Given the description of an element on the screen output the (x, y) to click on. 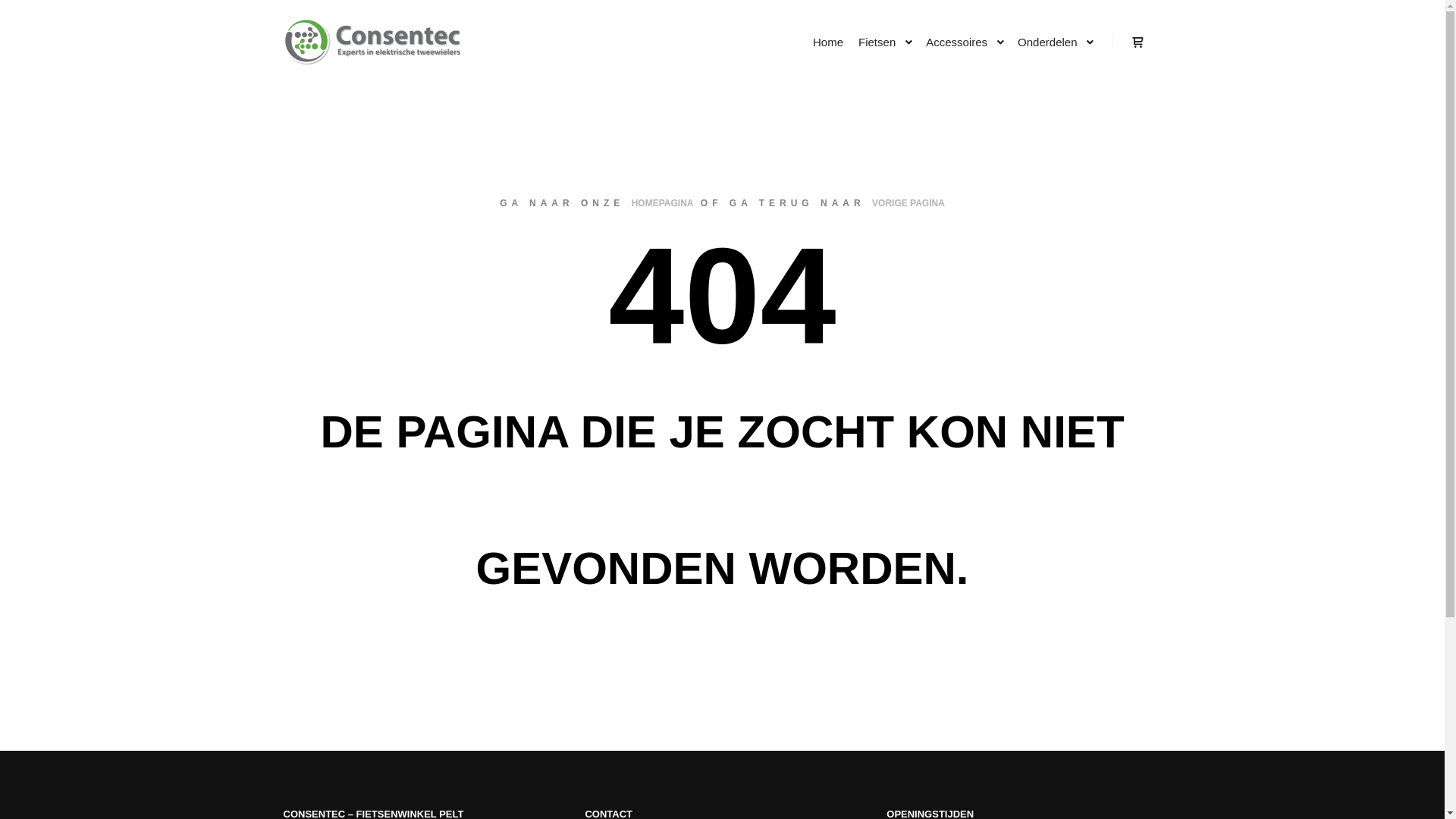
Accessoires Element type: text (954, 42)
Onderdelen Element type: text (1044, 42)
Winkel sidebar Element type: text (1137, 42)
HOMEPAGINA Element type: text (662, 202)
VORIGE PAGINA Element type: text (908, 202)
Consentec webshop Element type: hover (376, 42)
Home Element type: text (827, 42)
Fietsen Element type: text (874, 42)
